Given the description of an element on the screen output the (x, y) to click on. 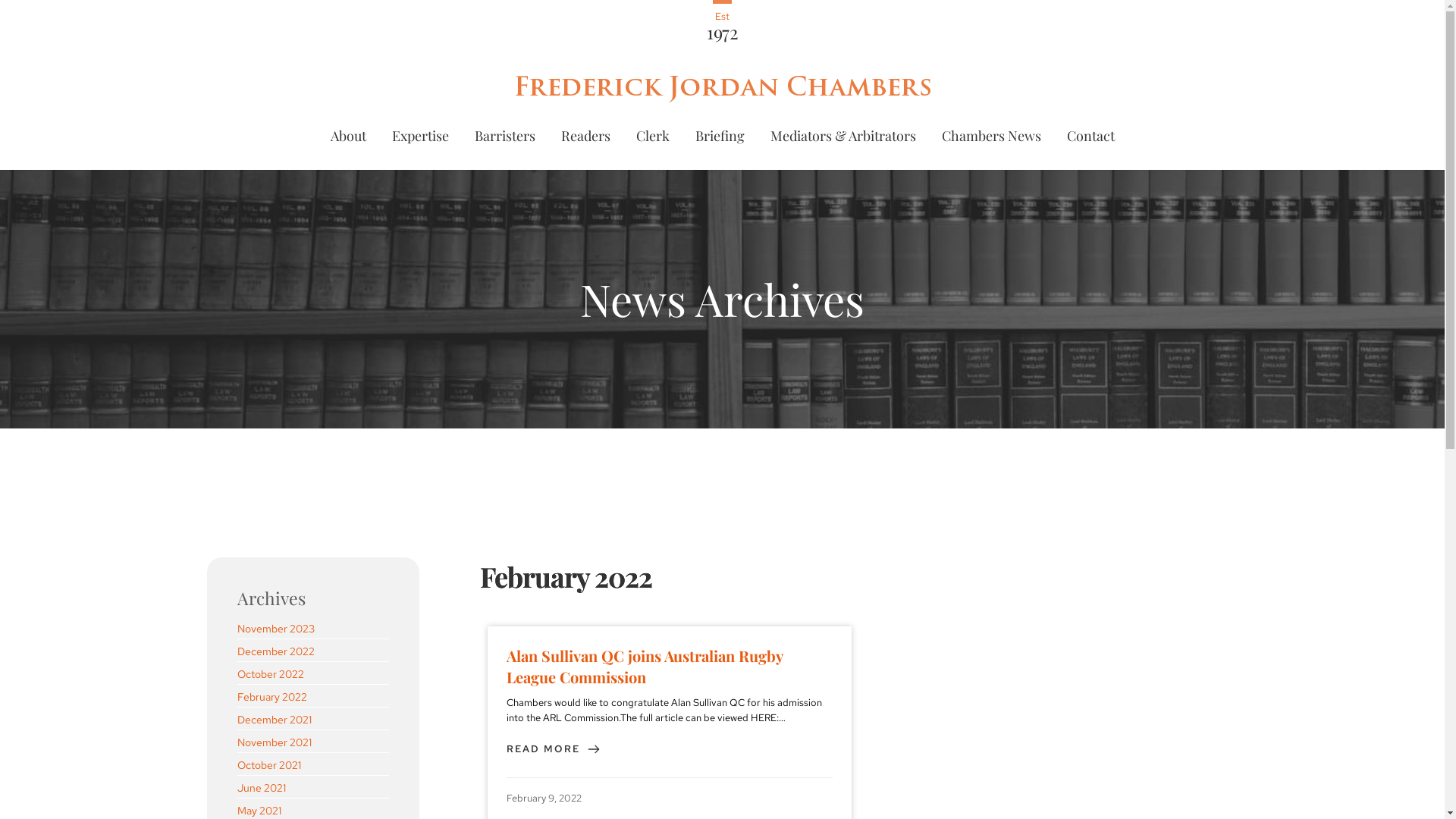
Mediators & Arbitrators Element type: text (842, 136)
February 2022 Element type: text (271, 696)
READ MORE Element type: text (552, 749)
Alan Sullivan QC joins Australian Rugby League Commission Element type: text (669, 666)
Contact Element type: text (1090, 136)
Barristers Element type: text (504, 136)
Briefing Element type: text (719, 136)
Frederick Jordan Chambers Element type: text (721, 85)
About Element type: text (347, 136)
Chambers News Element type: text (990, 136)
October 2022 Element type: text (269, 673)
November 2023 Element type: text (274, 628)
Expertise Element type: text (420, 136)
May 2021 Element type: text (258, 810)
November 2021 Element type: text (273, 741)
Readers Element type: text (584, 136)
December 2022 Element type: text (274, 650)
June 2021 Element type: text (260, 787)
December 2021 Element type: text (273, 719)
Clerk Element type: text (652, 136)
October 2021 Element type: text (268, 764)
